Given the description of an element on the screen output the (x, y) to click on. 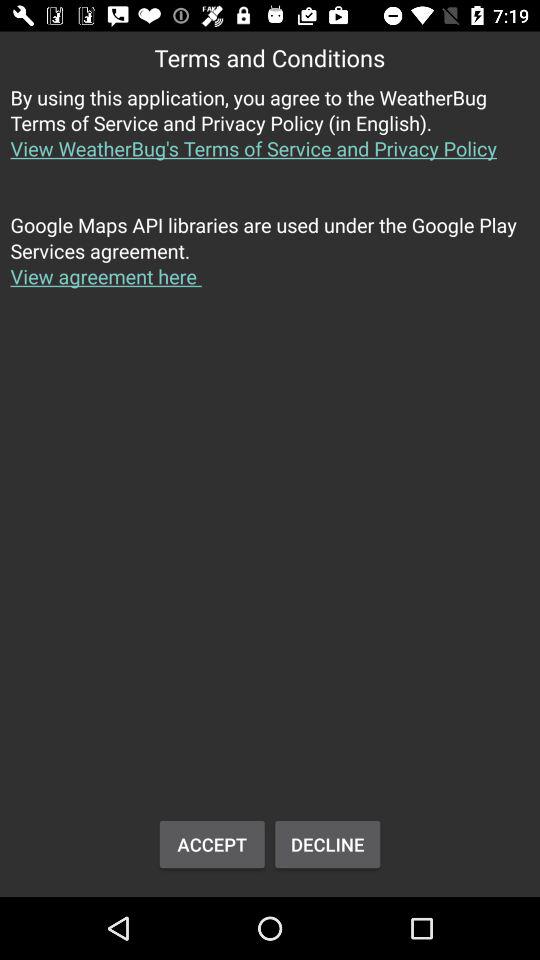
jump until the by using this icon (269, 134)
